Given the description of an element on the screen output the (x, y) to click on. 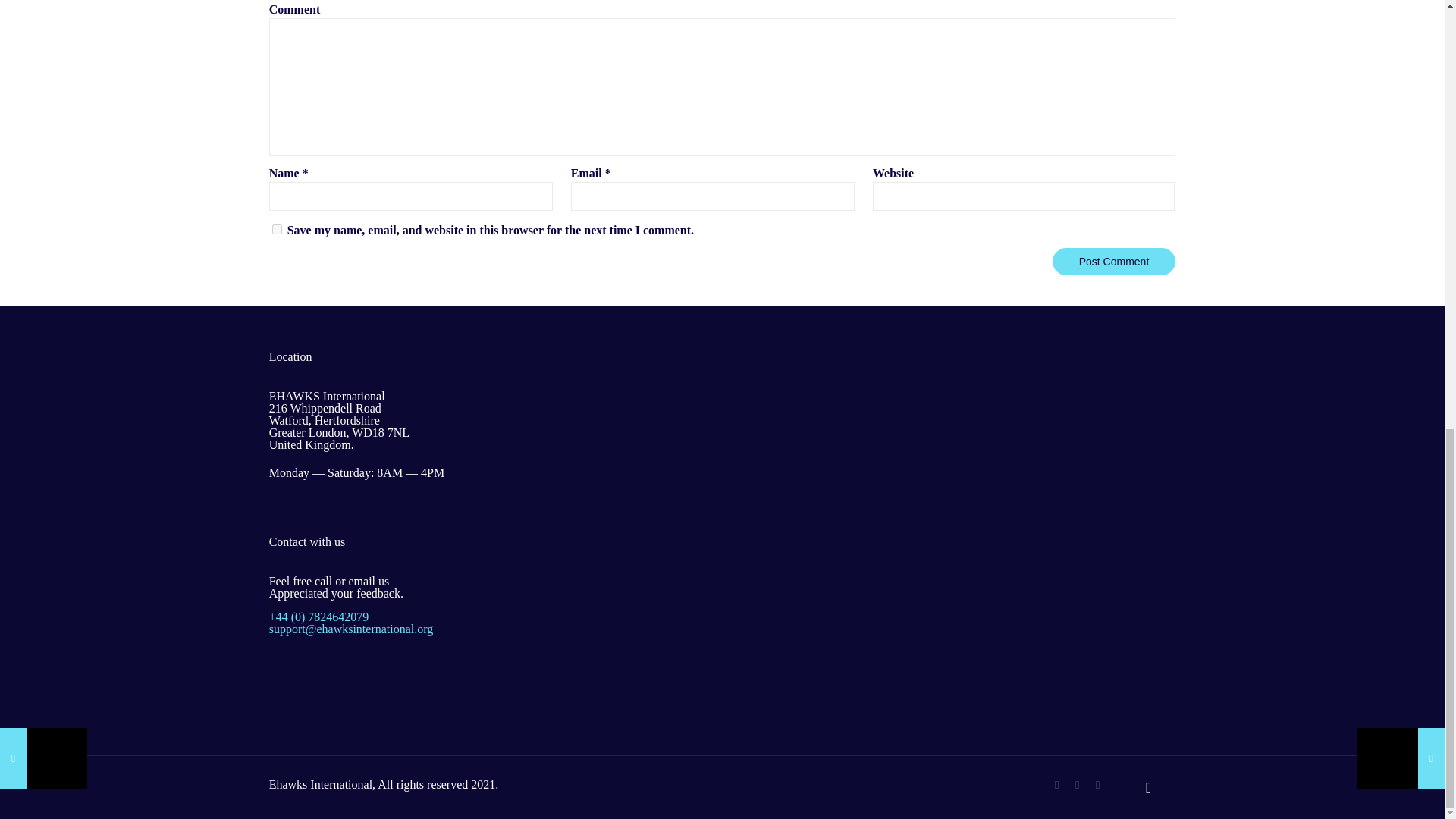
Twitter (1076, 784)
Post Comment (1114, 261)
Facebook (1056, 784)
yes (277, 229)
Post Comment (1114, 261)
Instagram (1097, 784)
